Given the description of an element on the screen output the (x, y) to click on. 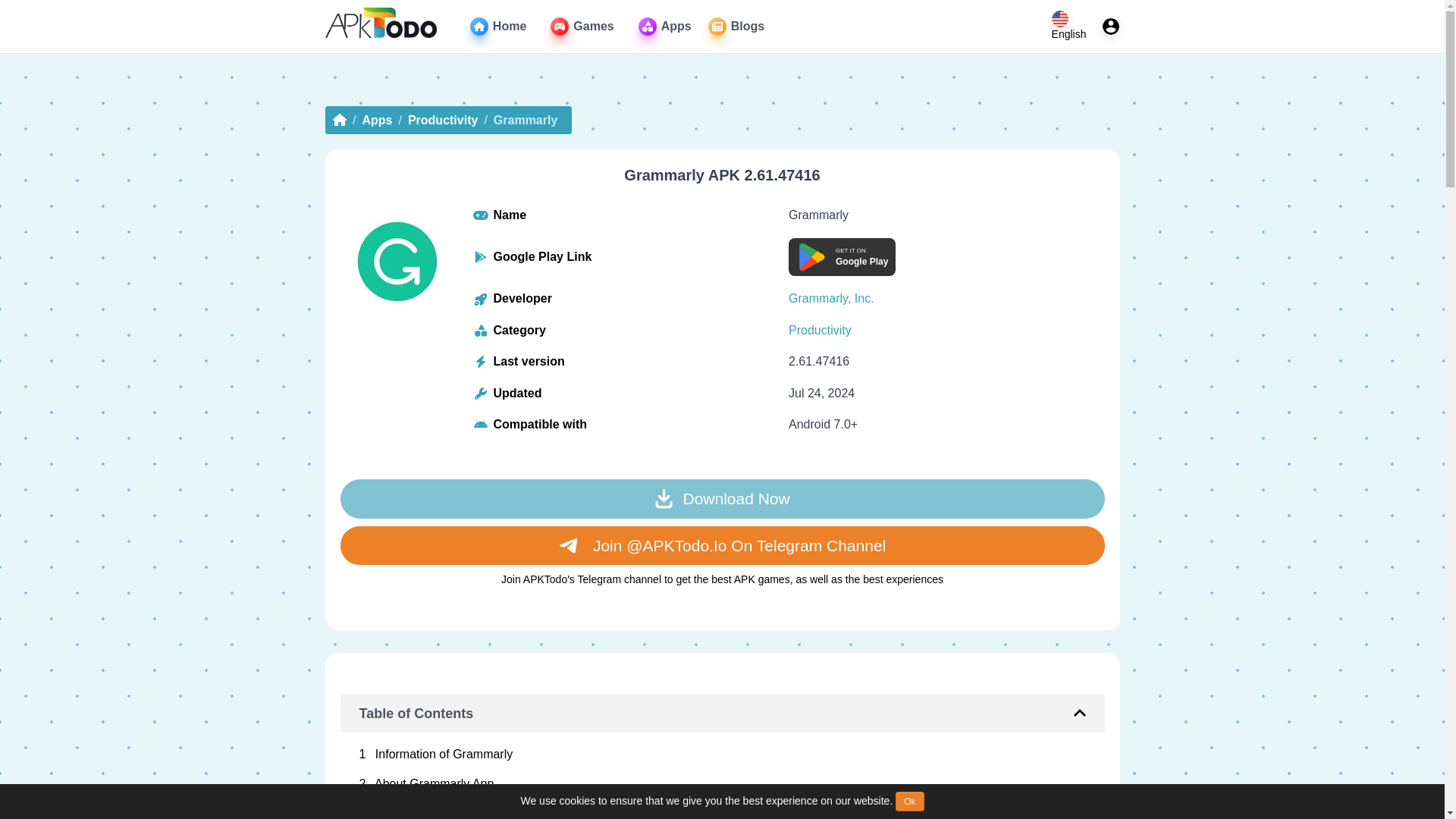
2 About Grammarly App (722, 783)
Apps (376, 119)
Games (842, 257)
Productivity (581, 26)
3 Overview of Grammarly Free (442, 119)
1 Information of Grammarly (722, 808)
Blogs (722, 754)
Productivity (735, 26)
Apps (820, 329)
Games (665, 26)
Download Now (581, 26)
Blogs (721, 498)
Apps (735, 26)
Grammarly, Inc. (665, 26)
